Given the description of an element on the screen output the (x, y) to click on. 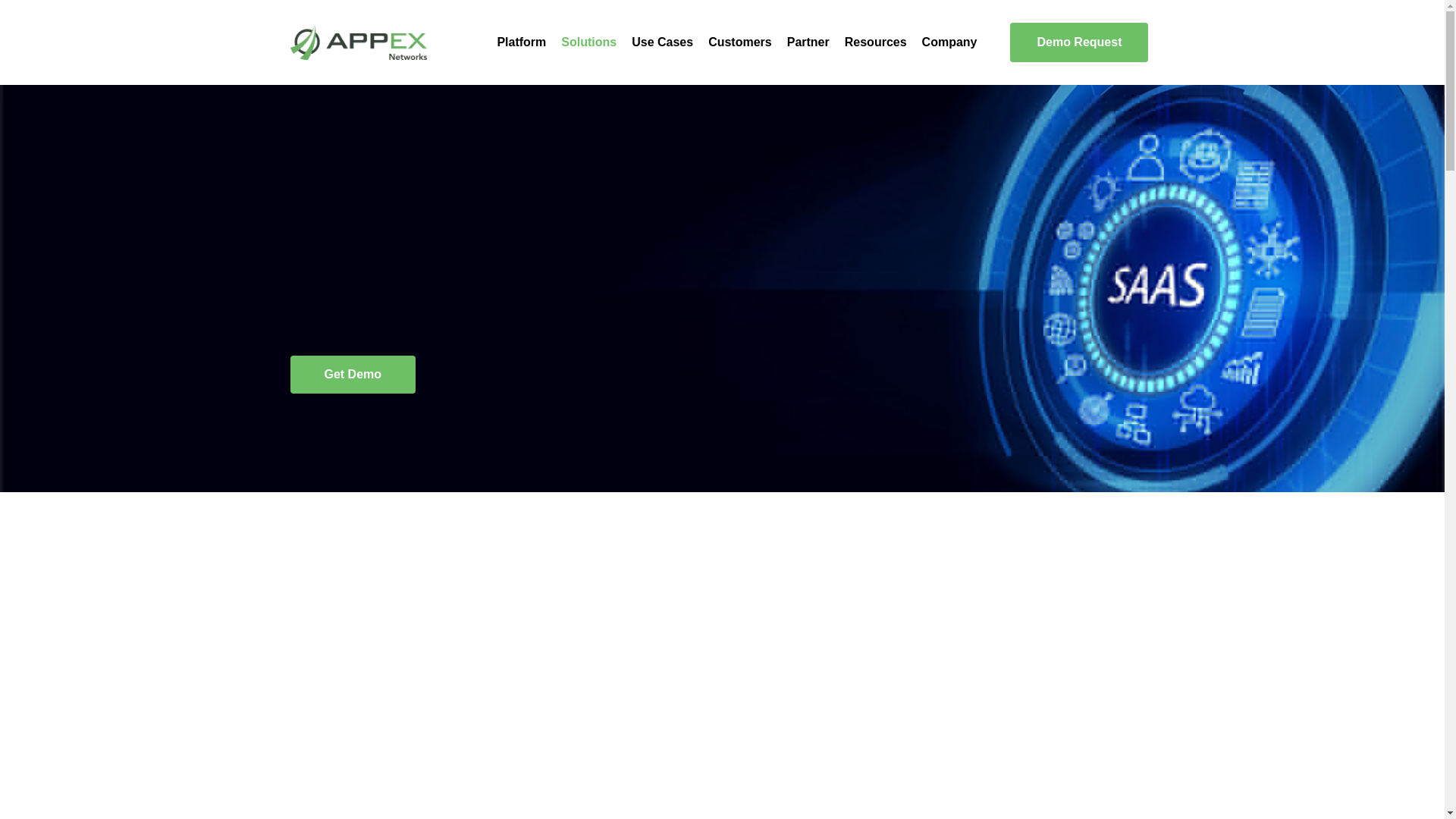
Solutions (588, 42)
Platform (521, 42)
Customers (739, 42)
Demo Request (1079, 42)
Company (949, 42)
Resources (875, 42)
Use Cases (662, 42)
Get Demo (351, 374)
Partner (807, 42)
